Given the description of an element on the screen output the (x, y) to click on. 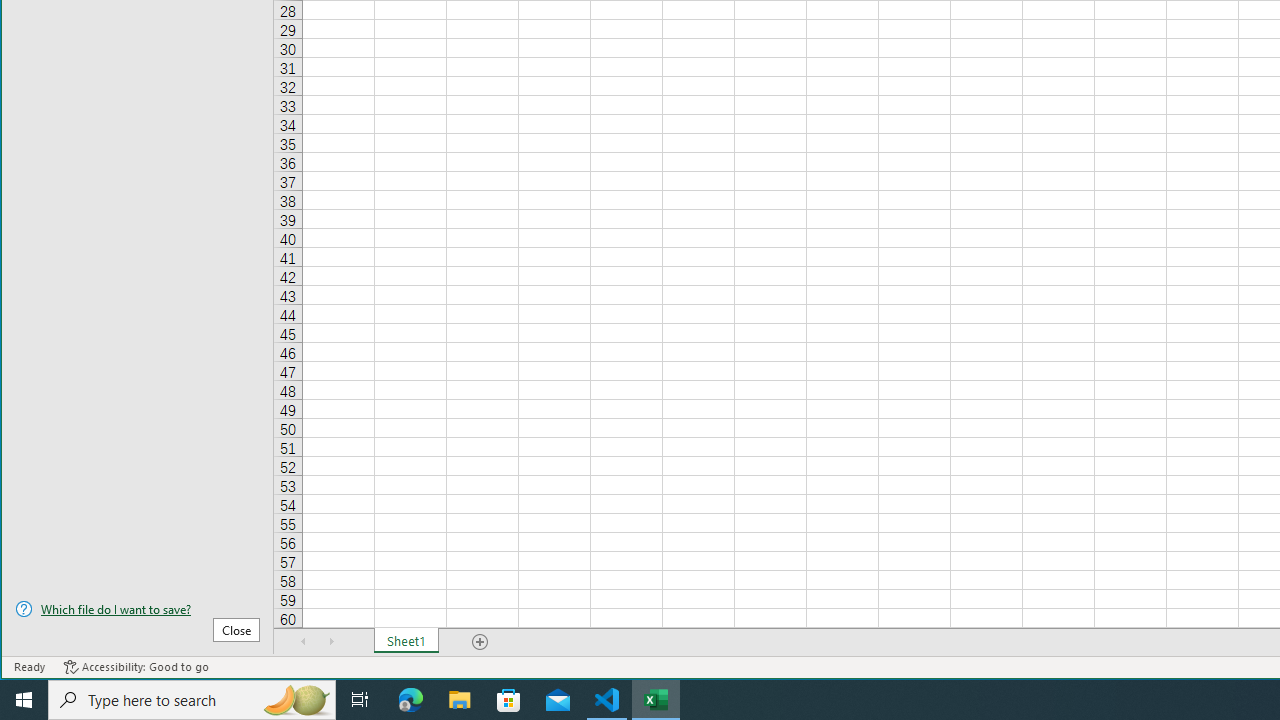
Microsoft Edge (411, 699)
Task View (359, 699)
Visual Studio Code - 1 running window (607, 699)
Start (24, 699)
Excel - 1 running window (656, 699)
File Explorer (460, 699)
Microsoft Store (509, 699)
